Given the description of an element on the screen output the (x, y) to click on. 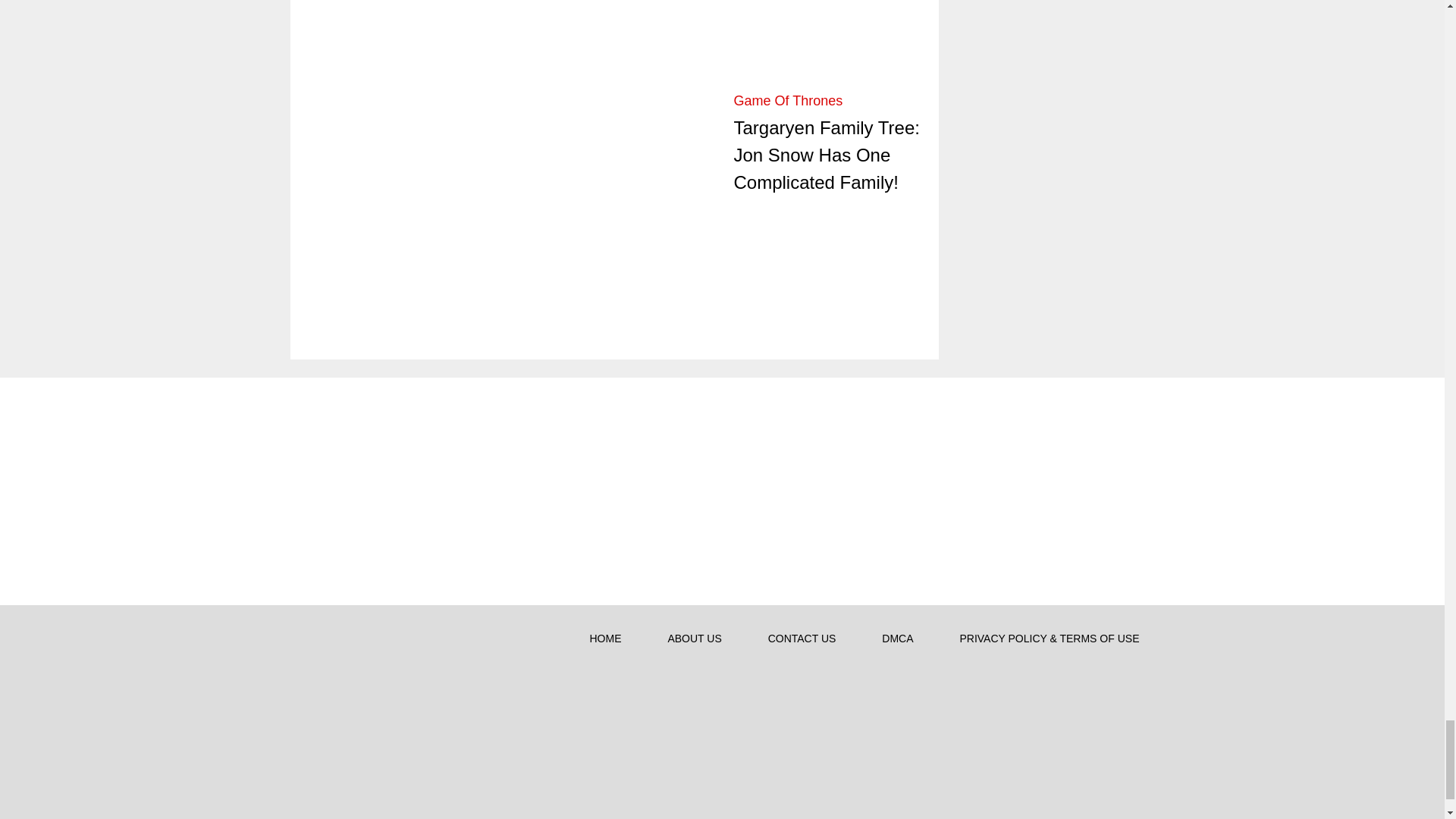
Category Name (788, 100)
